Given the description of an element on the screen output the (x, y) to click on. 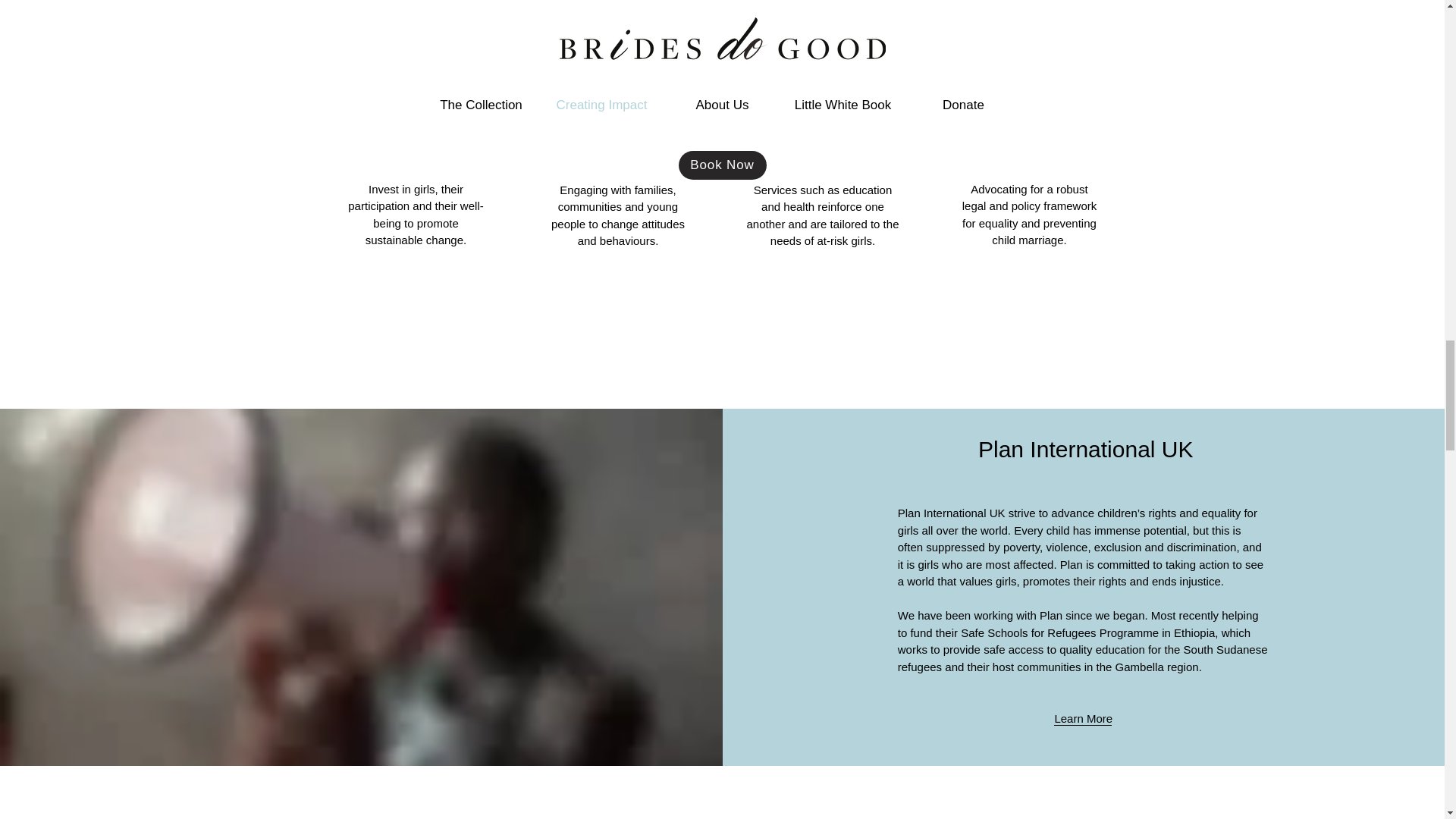
Learn More (1083, 717)
